Given the description of an element on the screen output the (x, y) to click on. 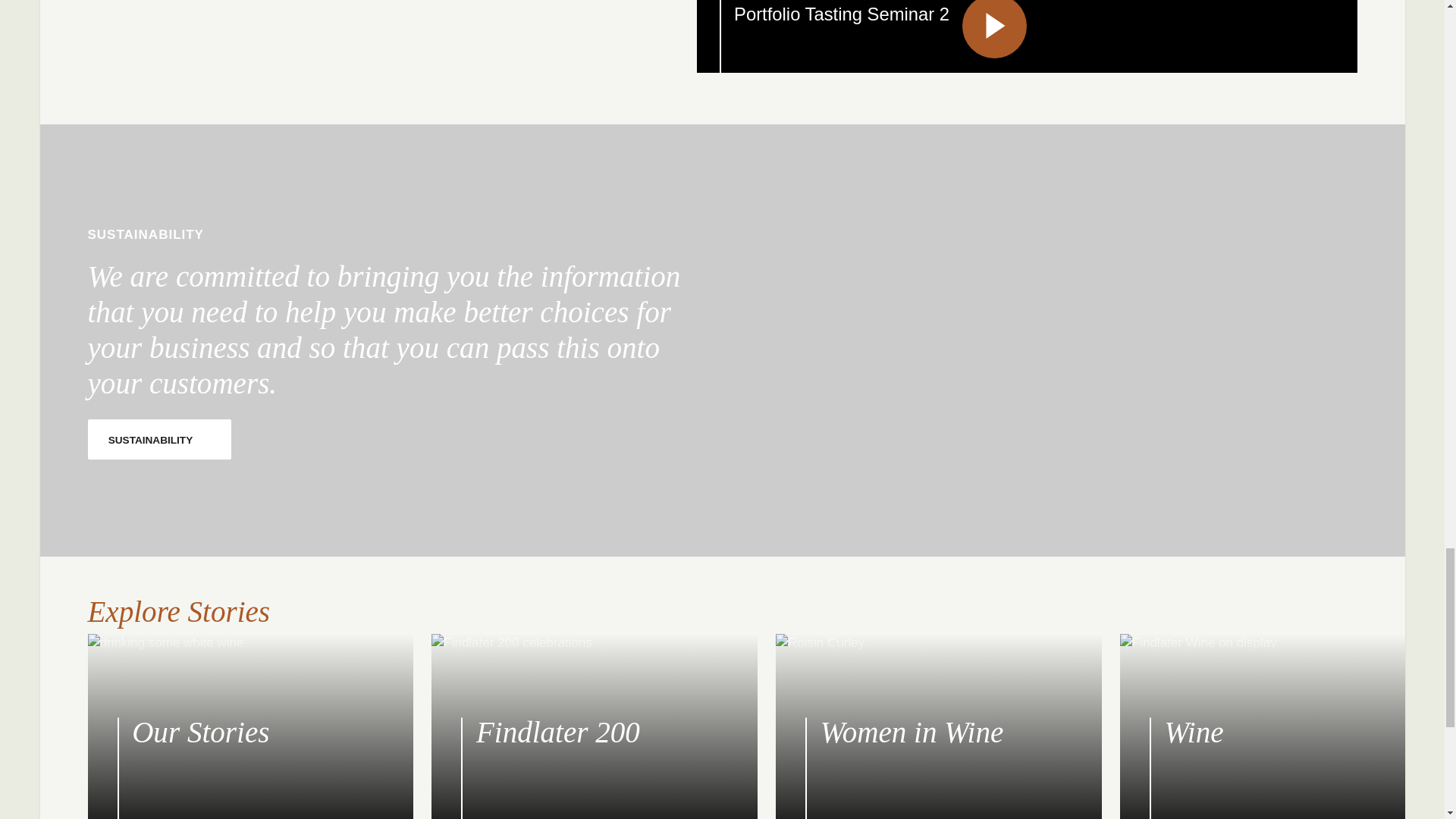
Portfolio Tasting Seminar 2 (1026, 36)
